Given the description of an element on the screen output the (x, y) to click on. 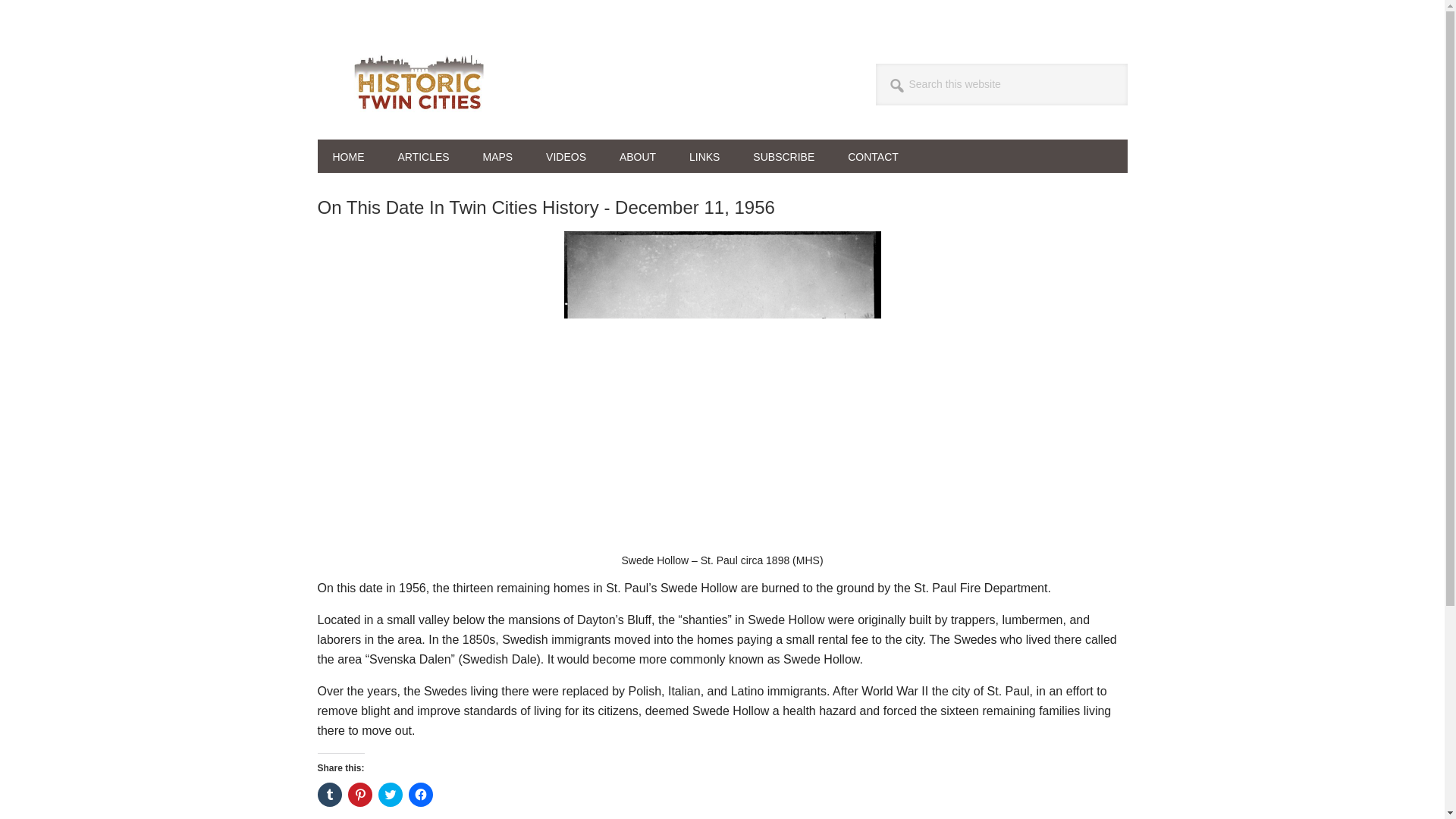
MAPS (497, 155)
SUBSCRIBE (783, 155)
Click to share on Twitter (389, 794)
HISTORIC TWIN CITIES (419, 81)
ARTICLES (422, 155)
Click to share on Facebook (419, 794)
CONTACT (873, 155)
ABOUT (637, 155)
HOME (347, 155)
Click to share on Tumblr (328, 794)
Click to share on Pinterest (359, 794)
VIDEOS (566, 155)
LINKS (704, 155)
